Given the description of an element on the screen output the (x, y) to click on. 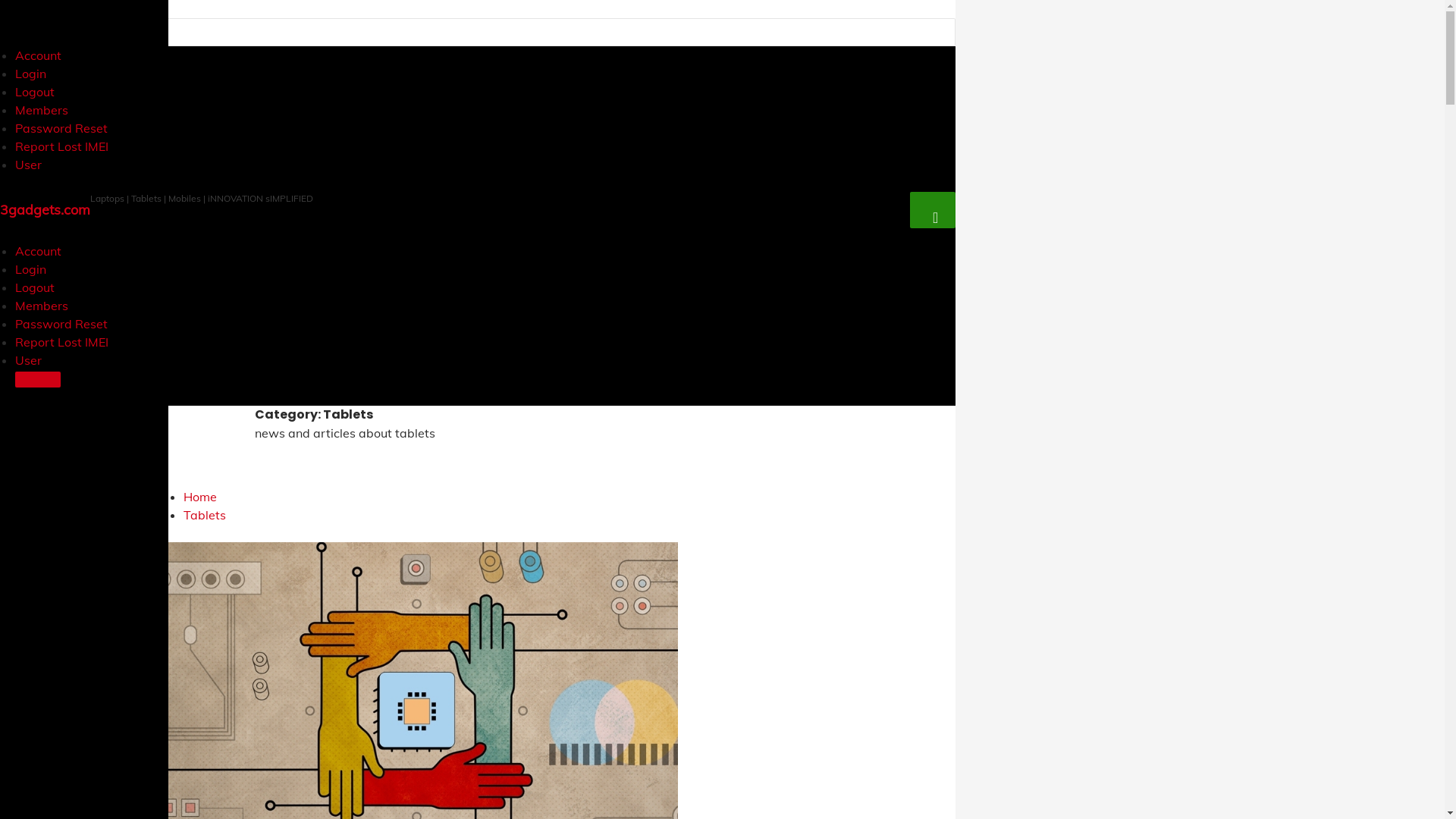
Search Element type: text (40, 13)
Logout Element type: text (34, 91)
Account Element type: text (38, 250)
User Element type: text (28, 359)
3gadgets.com Element type: text (45, 209)
Login Element type: text (30, 73)
Logout Element type: text (34, 286)
Account Element type: text (38, 54)
Tablets Element type: text (204, 514)
Password Reset Element type: text (61, 323)
Report Lost IMEI Element type: text (61, 145)
Home Element type: text (199, 496)
Password Reset Element type: text (61, 127)
User Element type: text (28, 164)
Members Element type: text (41, 305)
Report Lost IMEI Element type: text (61, 341)
Members Element type: text (41, 109)
Login Element type: text (30, 268)
